Given the description of an element on the screen output the (x, y) to click on. 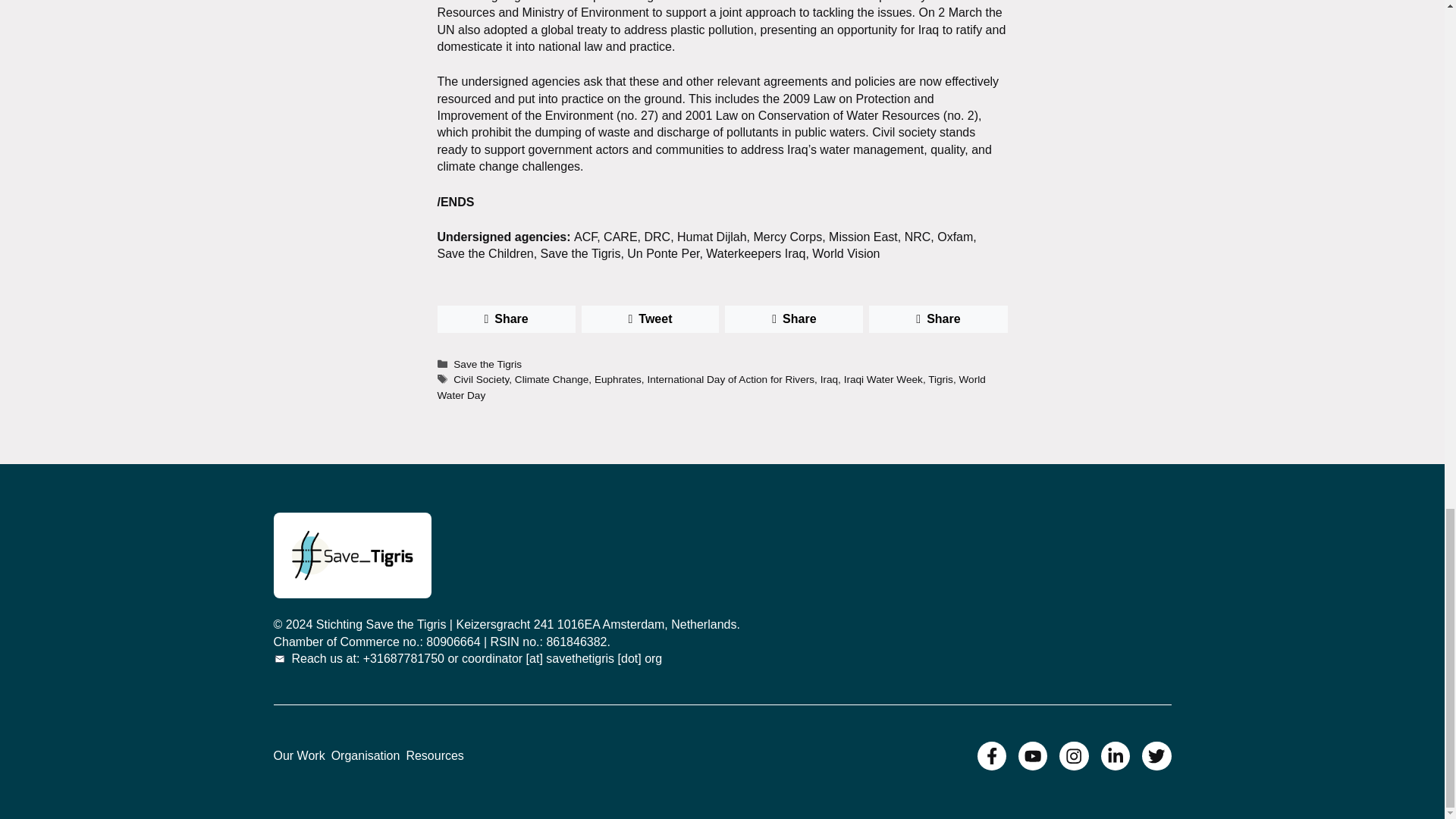
Share (938, 318)
savethetigrisfoundation (351, 554)
World Water Day (710, 386)
Civil Society (480, 378)
Organisation (365, 755)
Save the Tigris (486, 364)
Climate Change (551, 378)
Iraq (829, 378)
Resources (434, 755)
Iraqi Water Week (883, 378)
Share (794, 318)
Euphrates (618, 378)
Share (505, 318)
Scroll back to top (1406, 176)
International Day of Action for Rivers (729, 378)
